Given the description of an element on the screen output the (x, y) to click on. 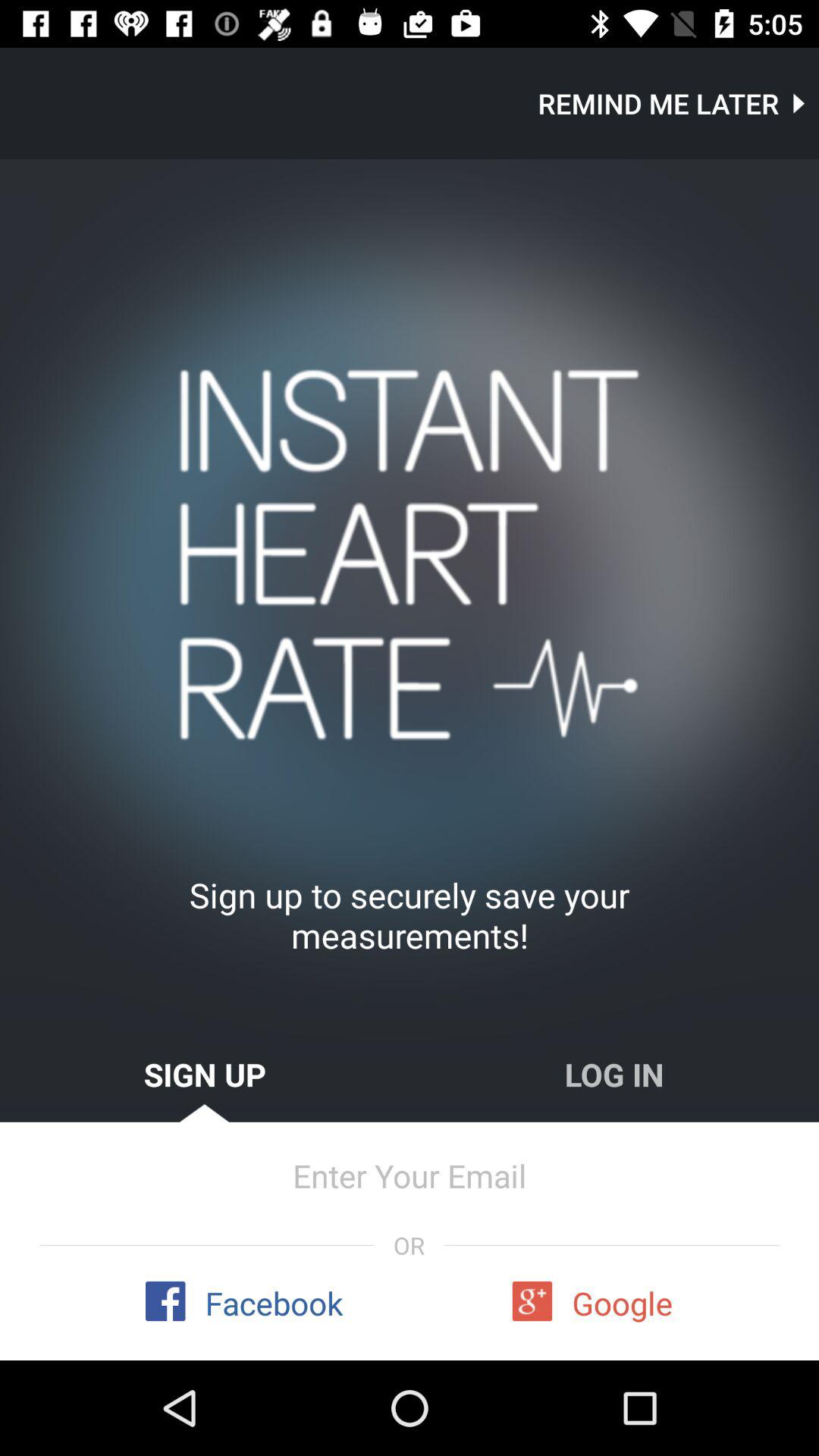
jump to the enter your email item (409, 1175)
